Given the description of an element on the screen output the (x, y) to click on. 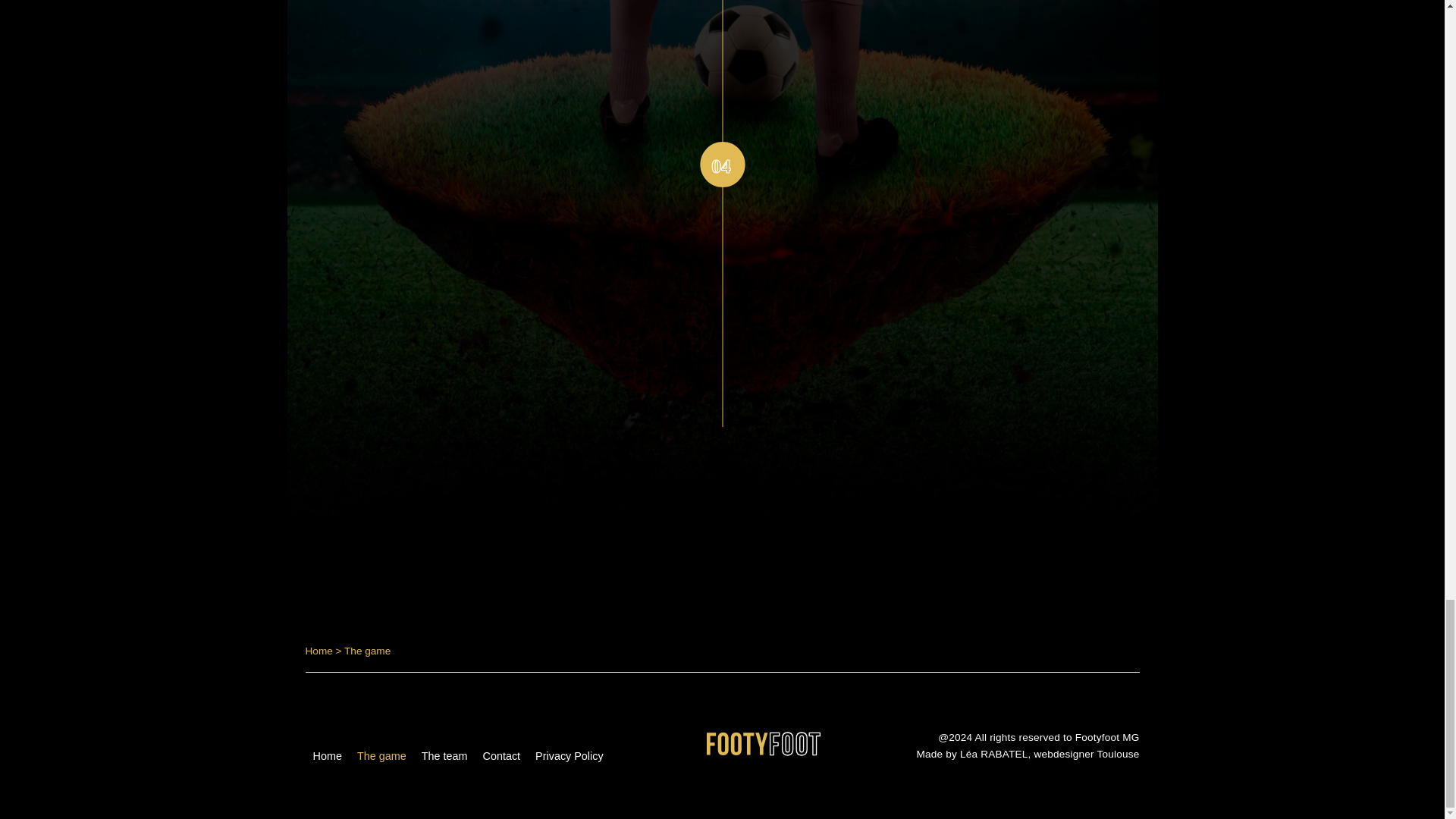
Home (326, 755)
webdesigner Toulouse (1085, 754)
The game (381, 755)
Home (317, 650)
The team (444, 755)
Contact (500, 755)
04 (721, 164)
Privacy Policy (569, 755)
